Given the description of an element on the screen output the (x, y) to click on. 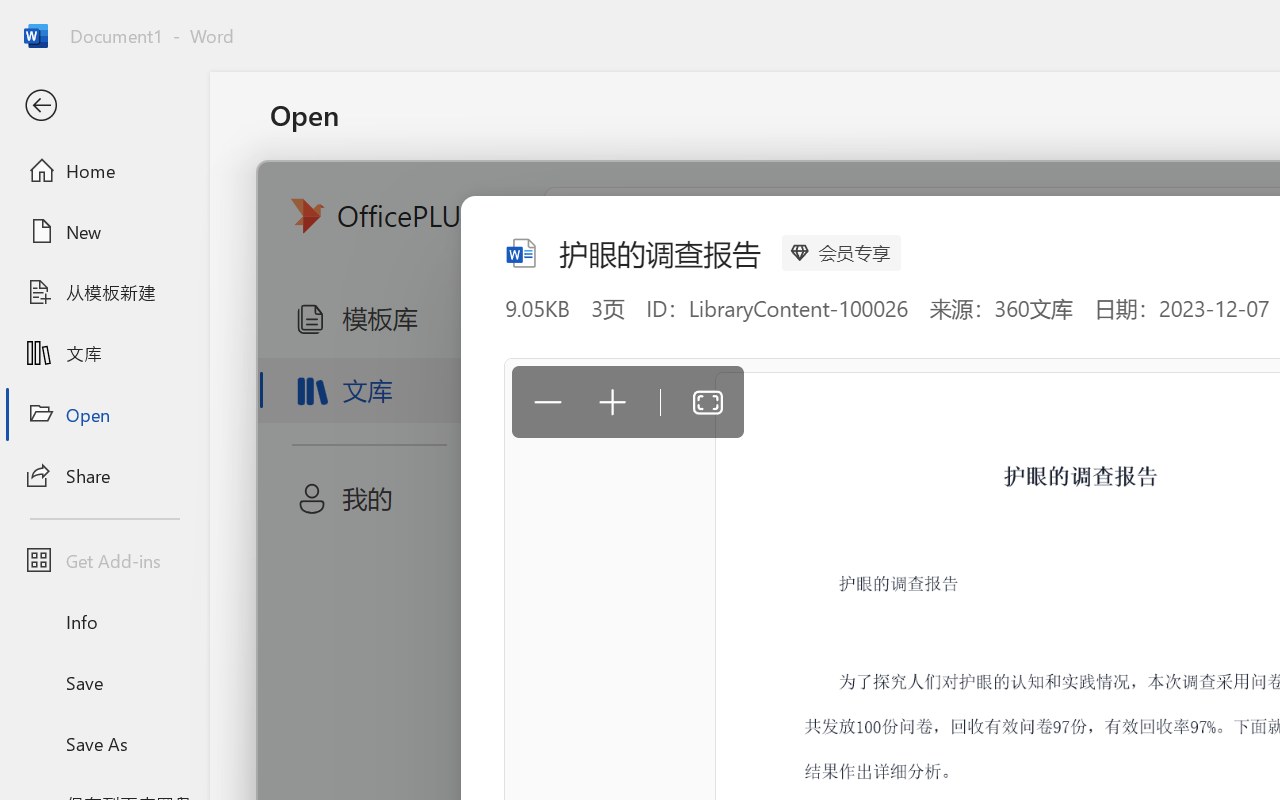
New (104, 231)
Back (104, 106)
Get Add-ins (104, 560)
Class: ___1gj6xy4 f9ur42n f3fi6us f1g9k77h f1x4n1mu (520, 250)
Save As (104, 743)
Info (104, 621)
